Given the description of an element on the screen output the (x, y) to click on. 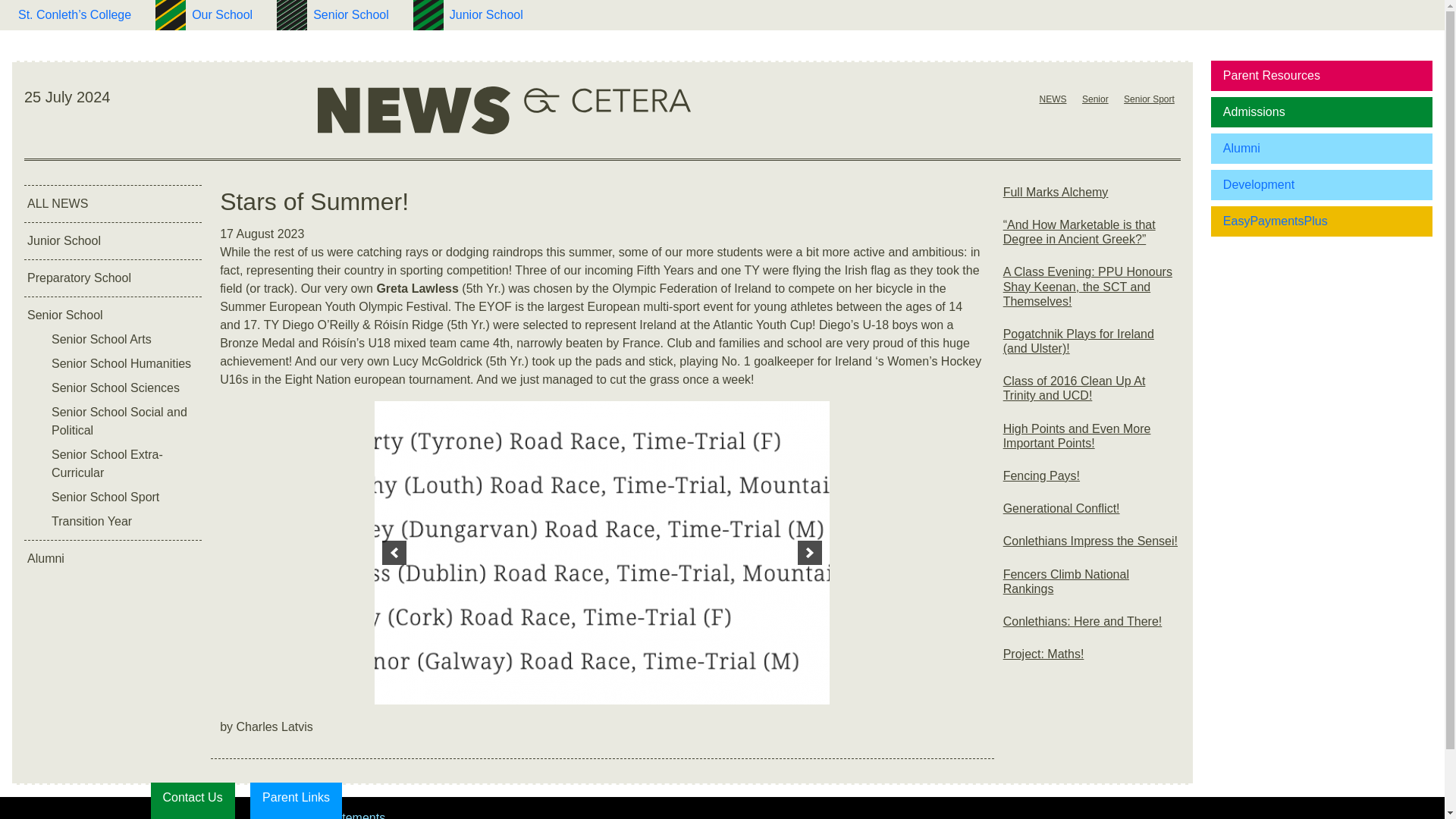
Full Marks Alchemy (1091, 198)
Junior School (486, 15)
ALL NEWS (113, 203)
Senior School Arts (125, 339)
Transition Year (125, 521)
2 (700, 686)
5 (748, 686)
Senior School (350, 15)
3 (716, 686)
Senior School (113, 315)
Alumni (1321, 148)
Development (1321, 184)
Senior School Humanities (125, 363)
Senior School Social and Political (125, 421)
